Given the description of an element on the screen output the (x, y) to click on. 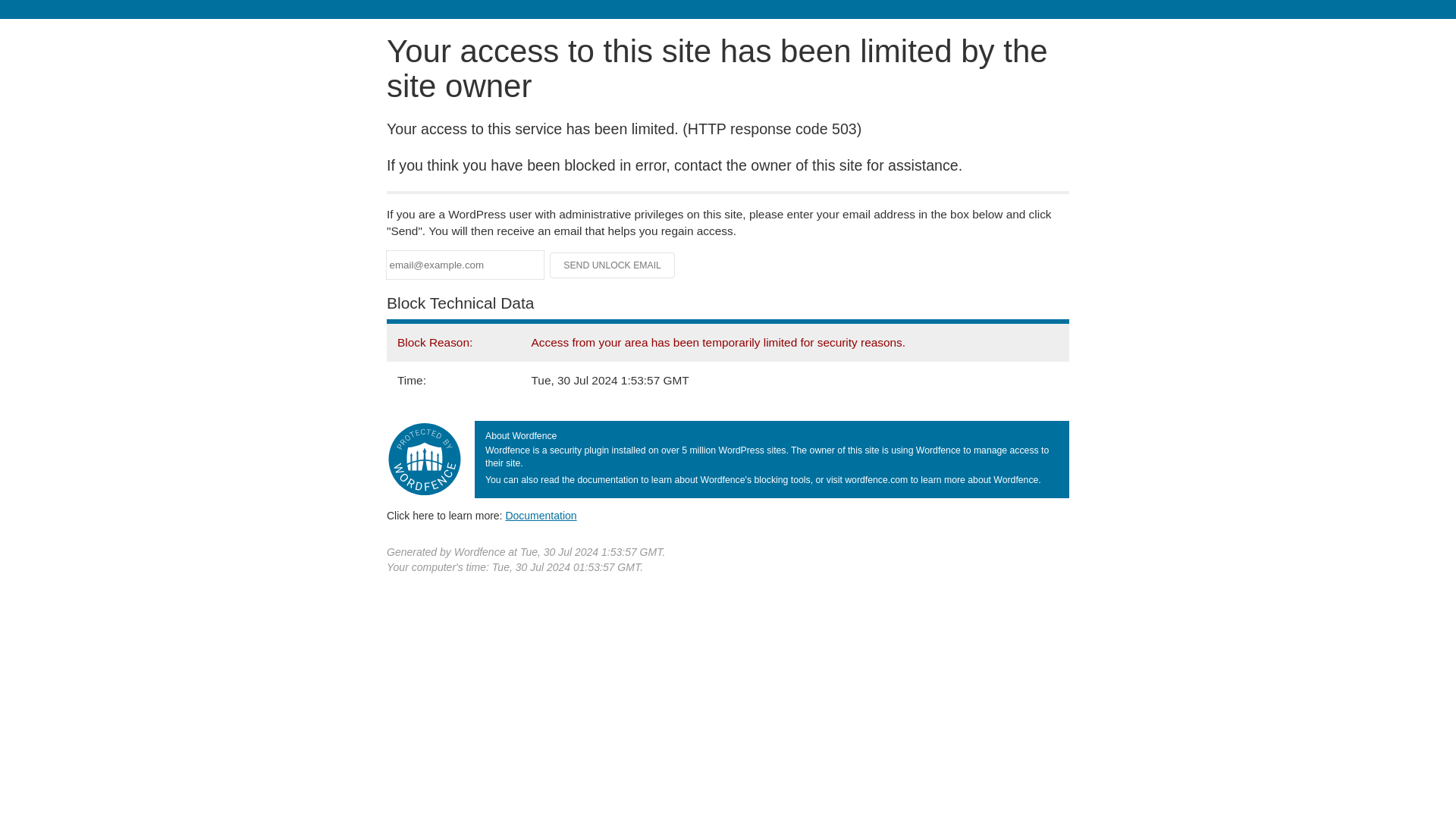
Send Unlock Email (612, 265)
Documentation (540, 515)
Send Unlock Email (612, 265)
